Given the description of an element on the screen output the (x, y) to click on. 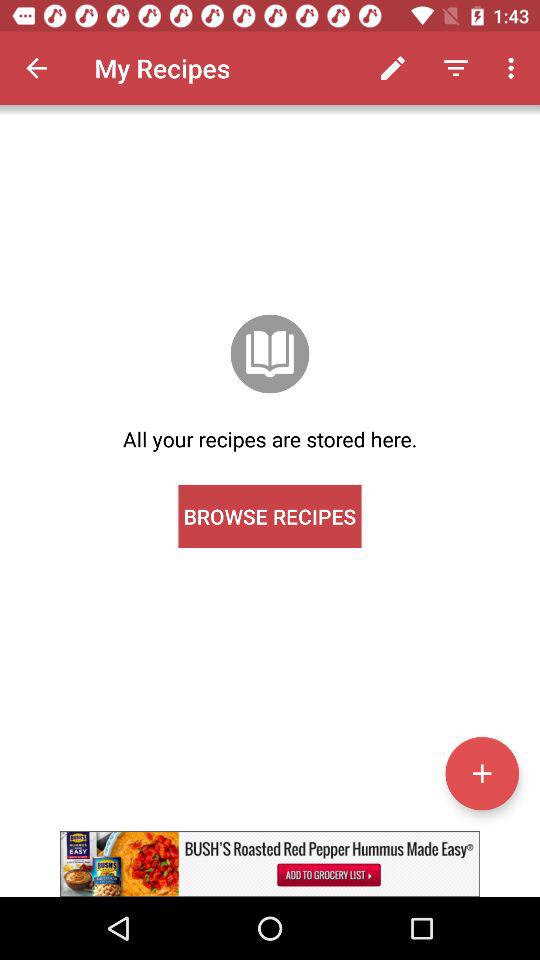
add recipie (482, 773)
